Given the description of an element on the screen output the (x, y) to click on. 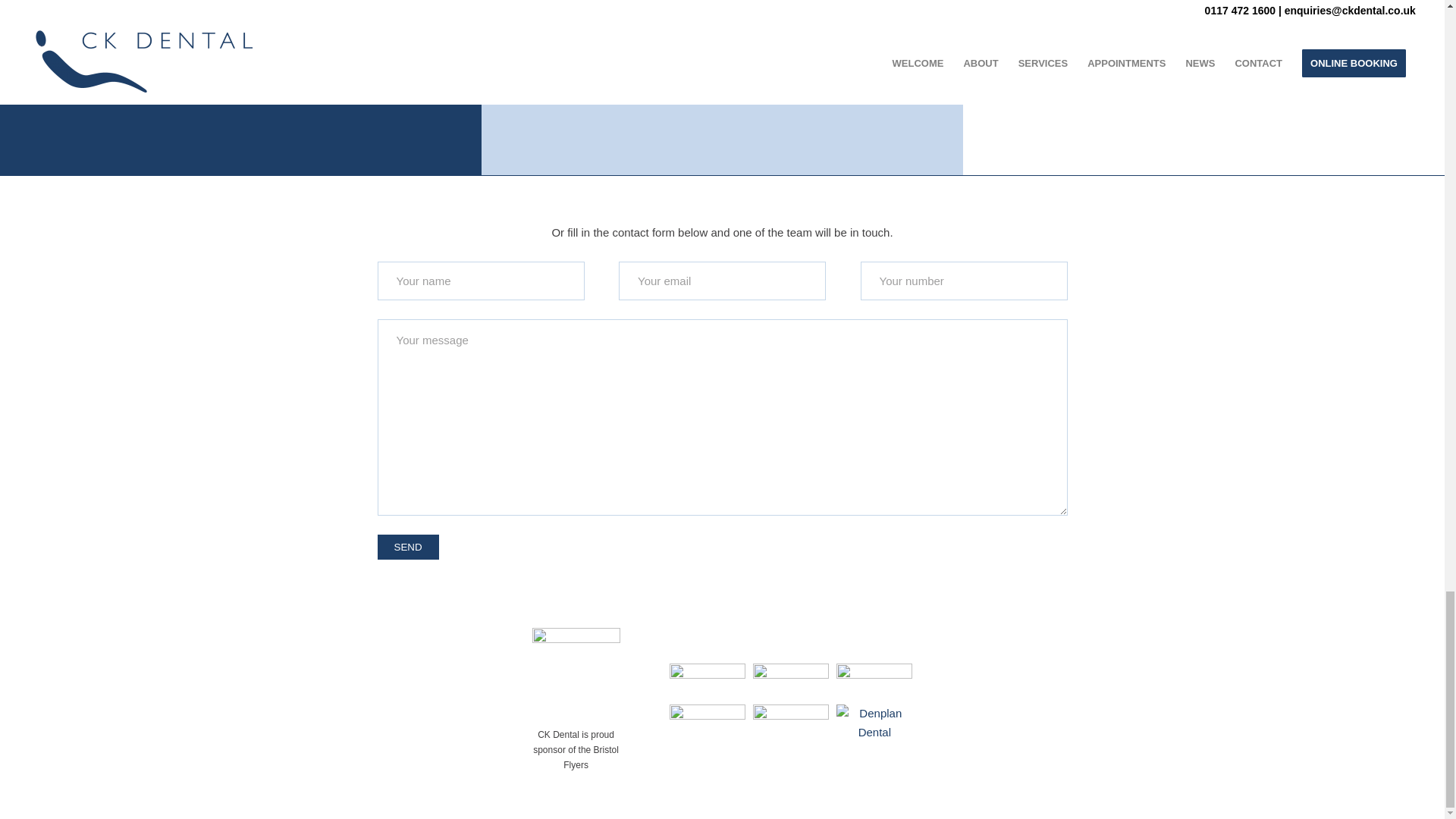
SEND (408, 546)
